Given the description of an element on the screen output the (x, y) to click on. 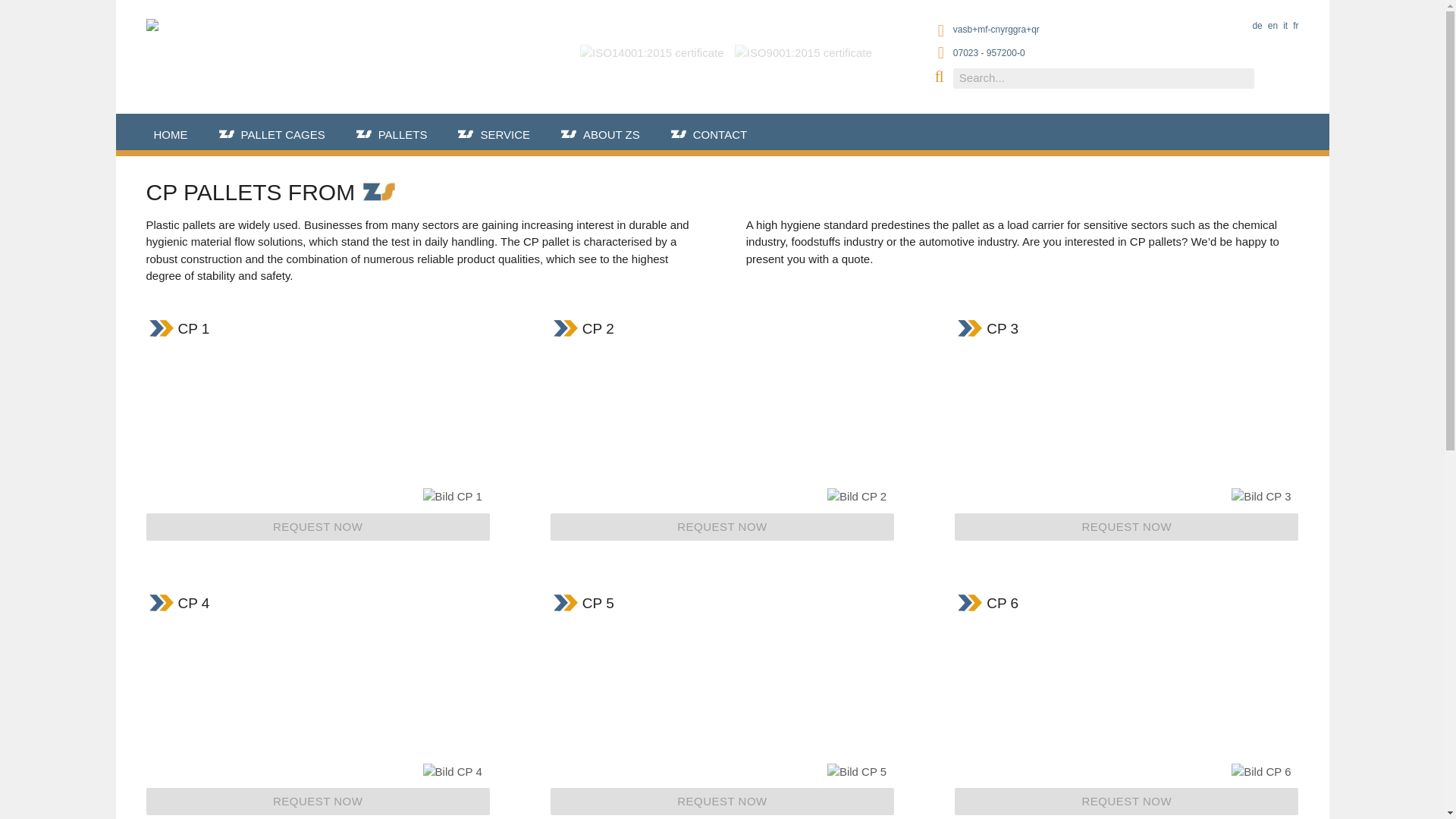
HOME (173, 134)
ABOUT ZS (614, 134)
CONTACT (723, 134)
ISO9001:2015 certificate (799, 40)
07023 - 957200-0 (989, 51)
ISO14001:2015 certificate (647, 40)
ZS (379, 191)
SERVICE (508, 134)
PALLET CAGES (286, 134)
PALLETS (406, 134)
